Given the description of an element on the screen output the (x, y) to click on. 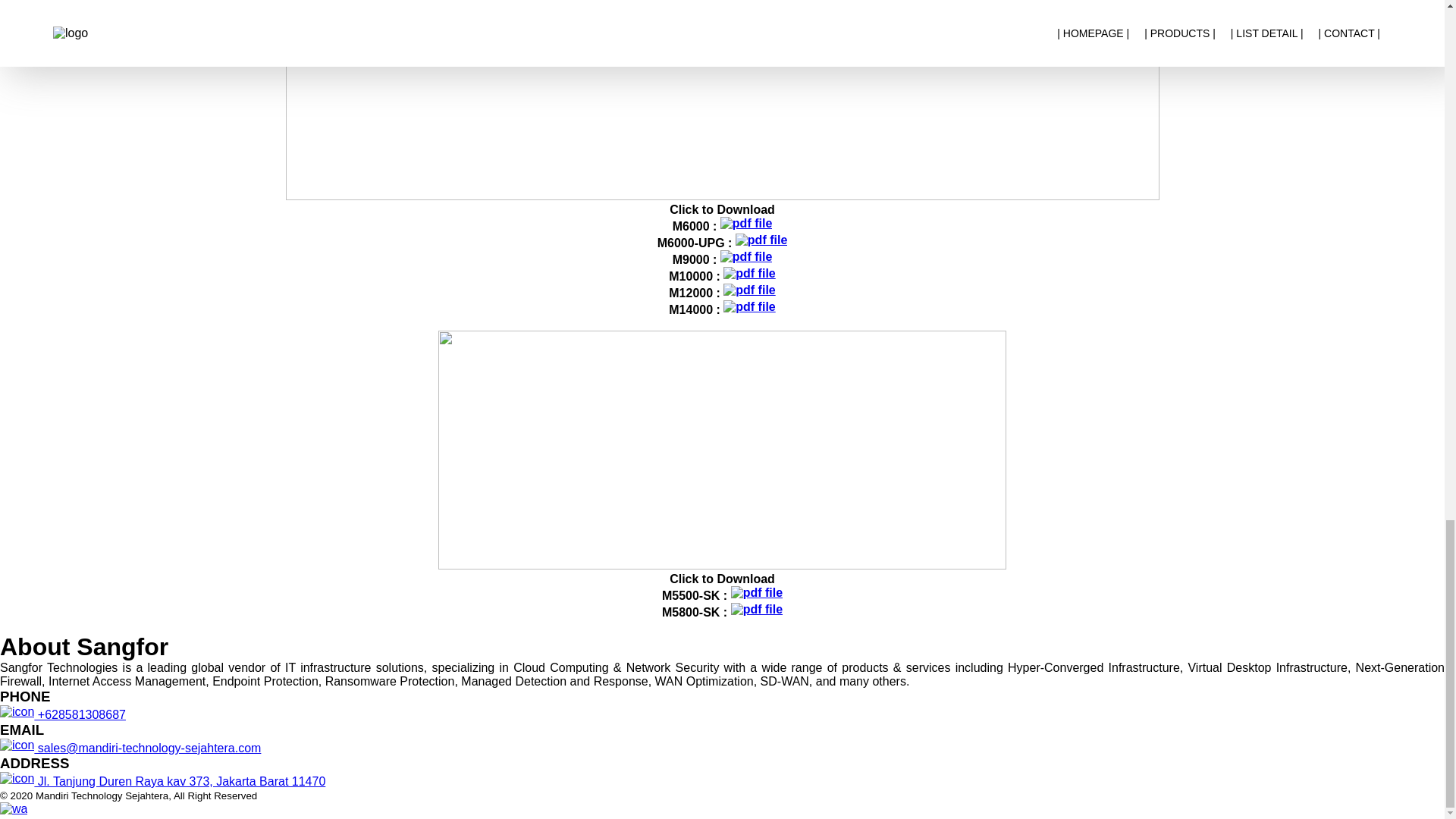
pdf file (756, 592)
pdf file (756, 609)
pdf file (745, 256)
pdf file (745, 223)
pdf file (748, 273)
pdf file (748, 306)
pdf file (748, 290)
pdf file (761, 240)
